Given the description of an element on the screen output the (x, y) to click on. 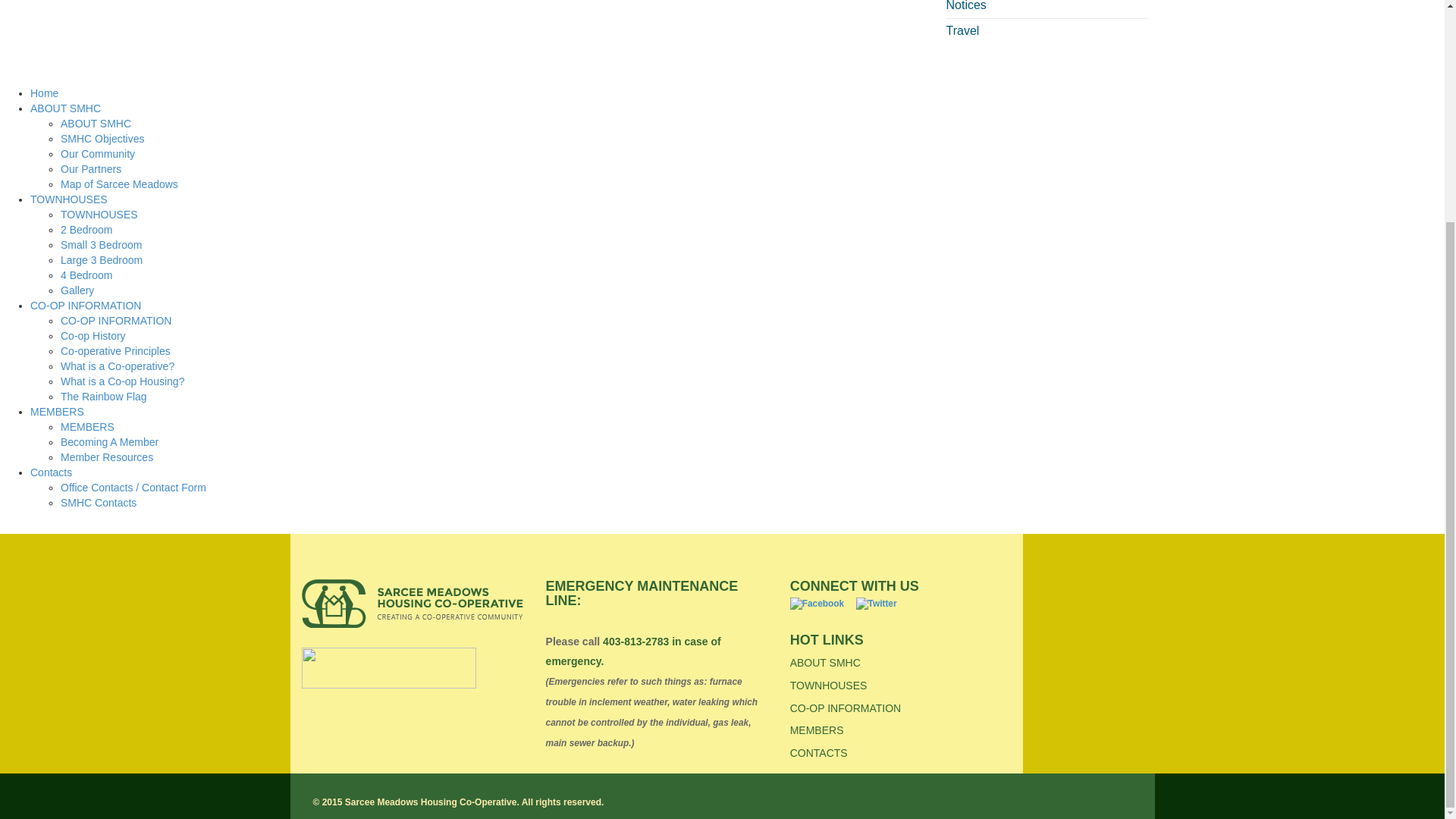
Our Community (98, 153)
ABOUT SMHC (65, 108)
Home (44, 92)
Notices (966, 5)
ABOUT SMHC (96, 123)
SMHC Objectives (102, 138)
Travel (962, 30)
